Given the description of an element on the screen output the (x, y) to click on. 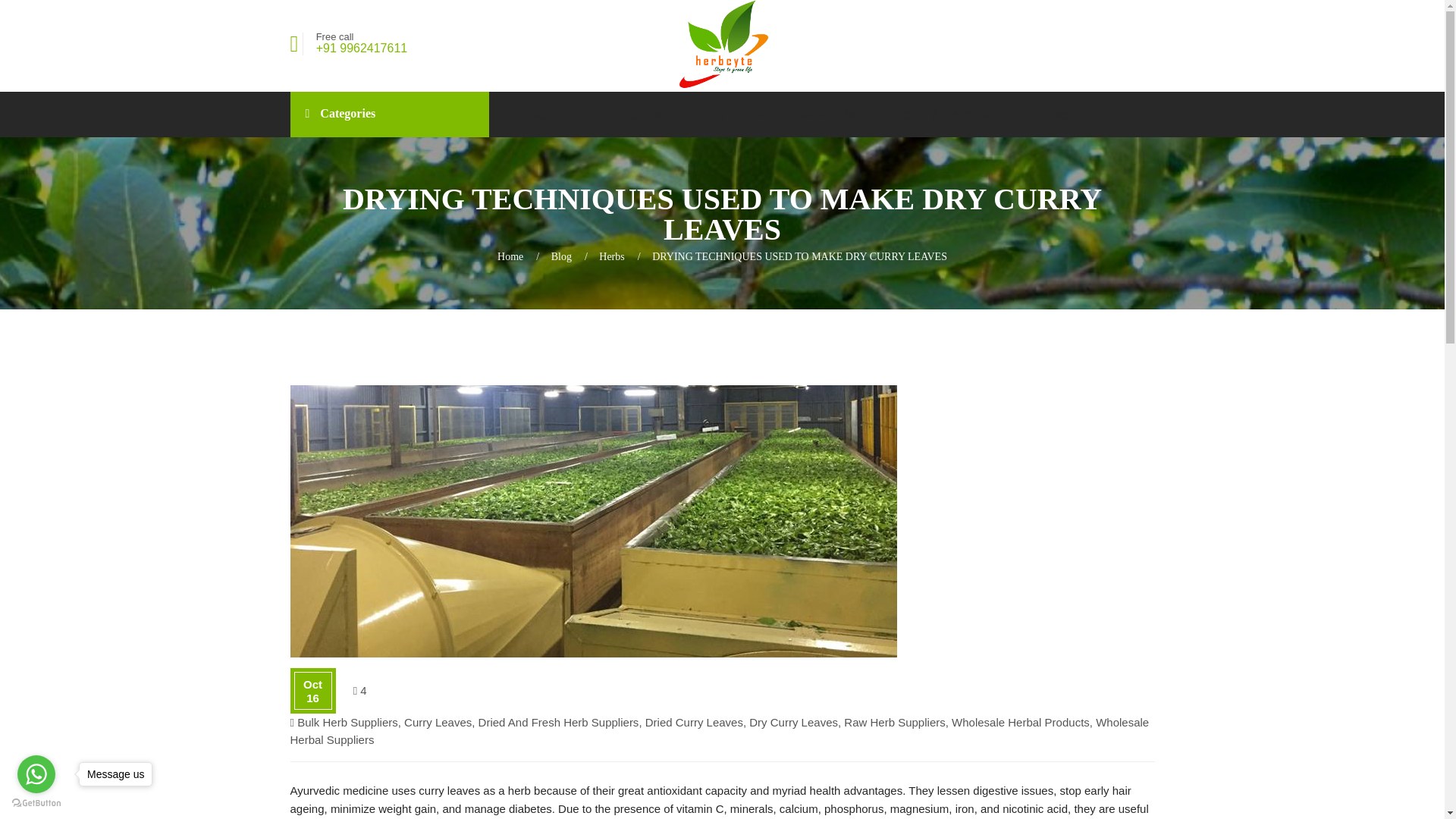
DRIED AND FRESH HERBS (785, 114)
HOME (547, 114)
Herbs (611, 256)
OUR SERVICES (948, 114)
0 (359, 689)
BLOG (1050, 114)
Home (509, 256)
ABOUT US (636, 114)
CONTACT US (566, 159)
Blog (561, 256)
